Given the description of an element on the screen output the (x, y) to click on. 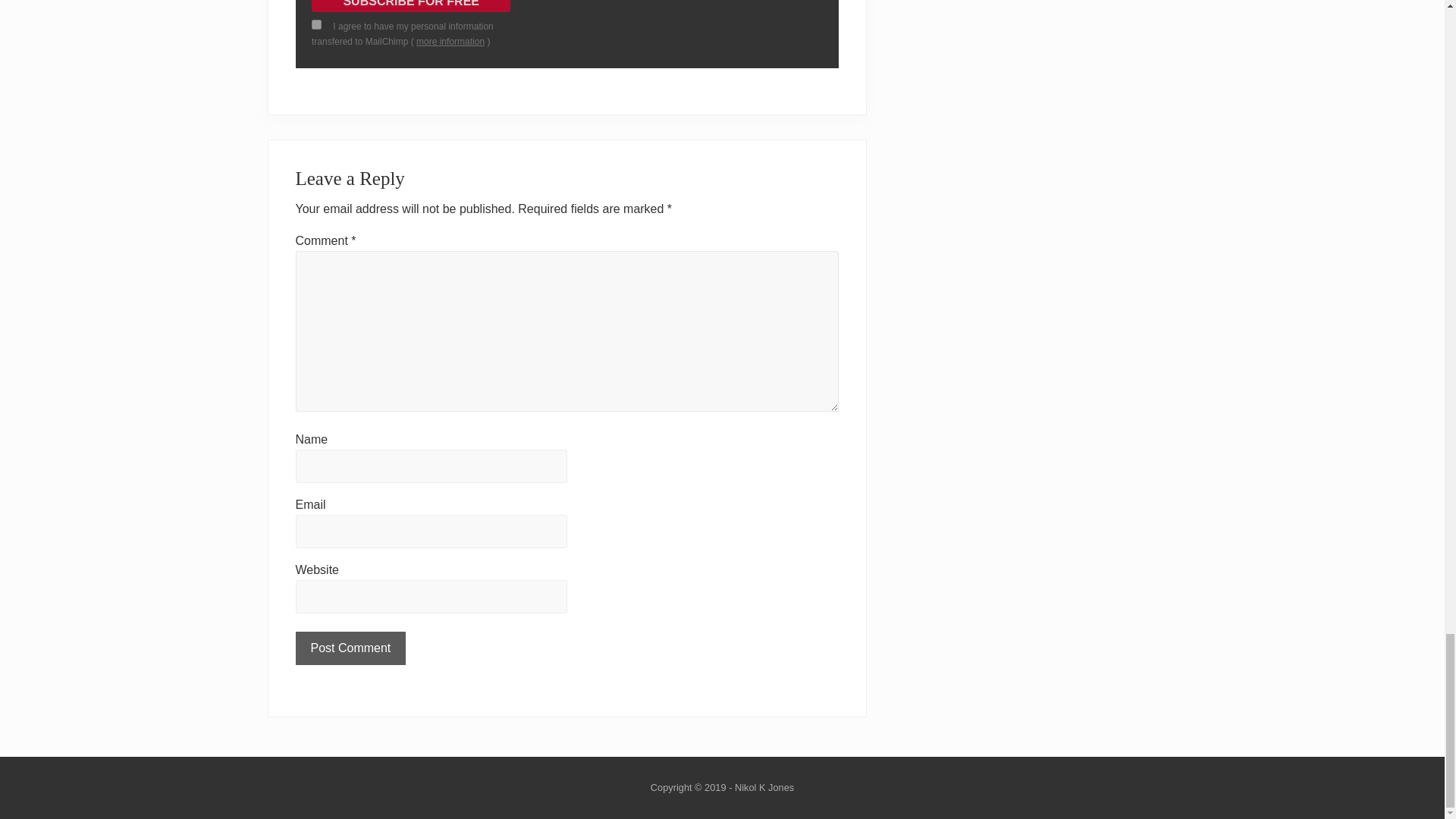
on (316, 24)
SUBSCRIBE FOR FREE (411, 6)
Post Comment (350, 648)
